Given the description of an element on the screen output the (x, y) to click on. 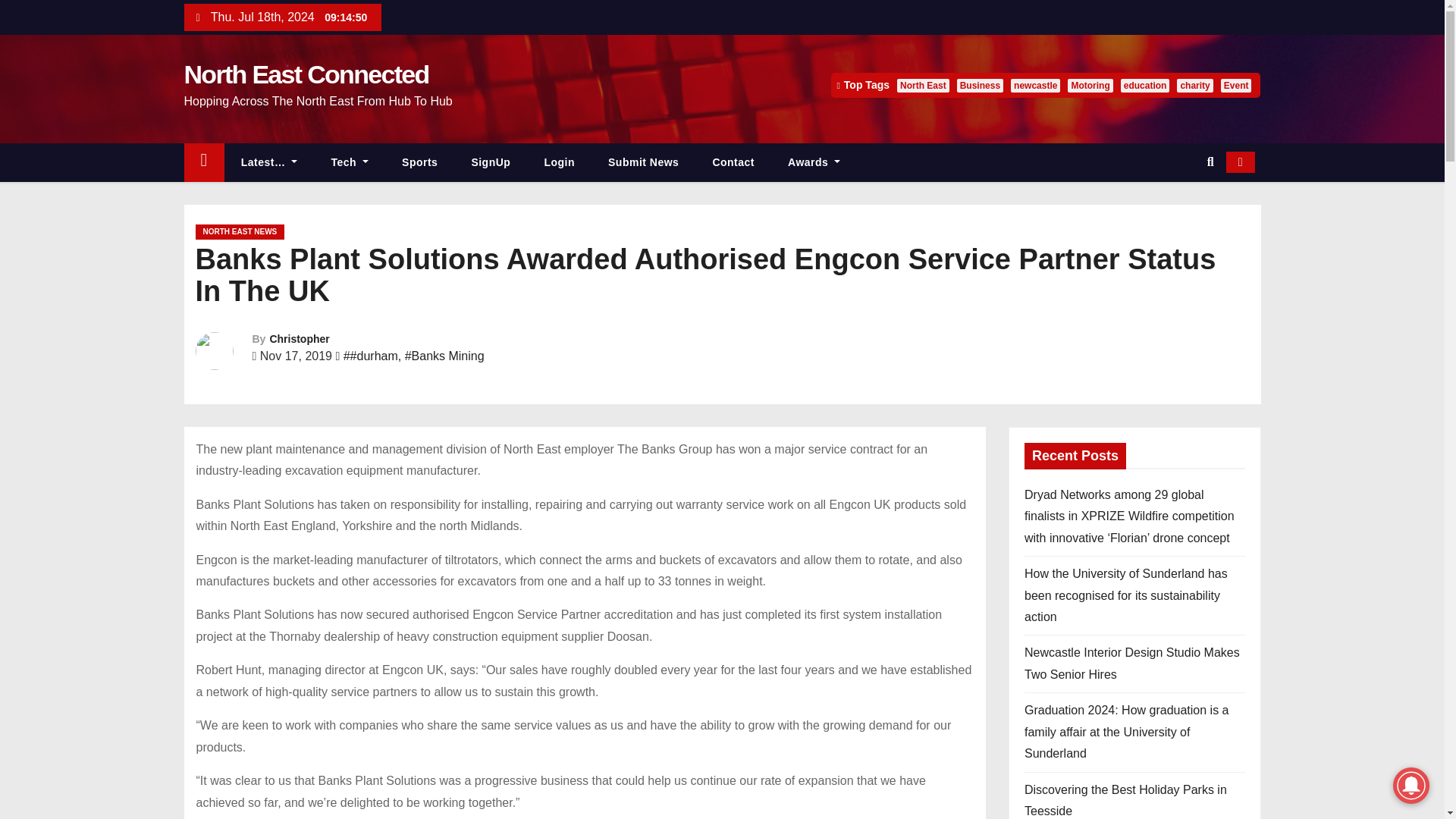
Sports (419, 162)
Tech (349, 162)
Submit News (643, 162)
Motoring (1089, 85)
Contact (733, 162)
newcastle (1034, 85)
Awards (814, 162)
Christopher (299, 338)
Sports (419, 162)
North East (922, 85)
Home (203, 162)
Contact (733, 162)
Business (979, 85)
NORTH EAST NEWS (240, 231)
Login (559, 162)
